Given the description of an element on the screen output the (x, y) to click on. 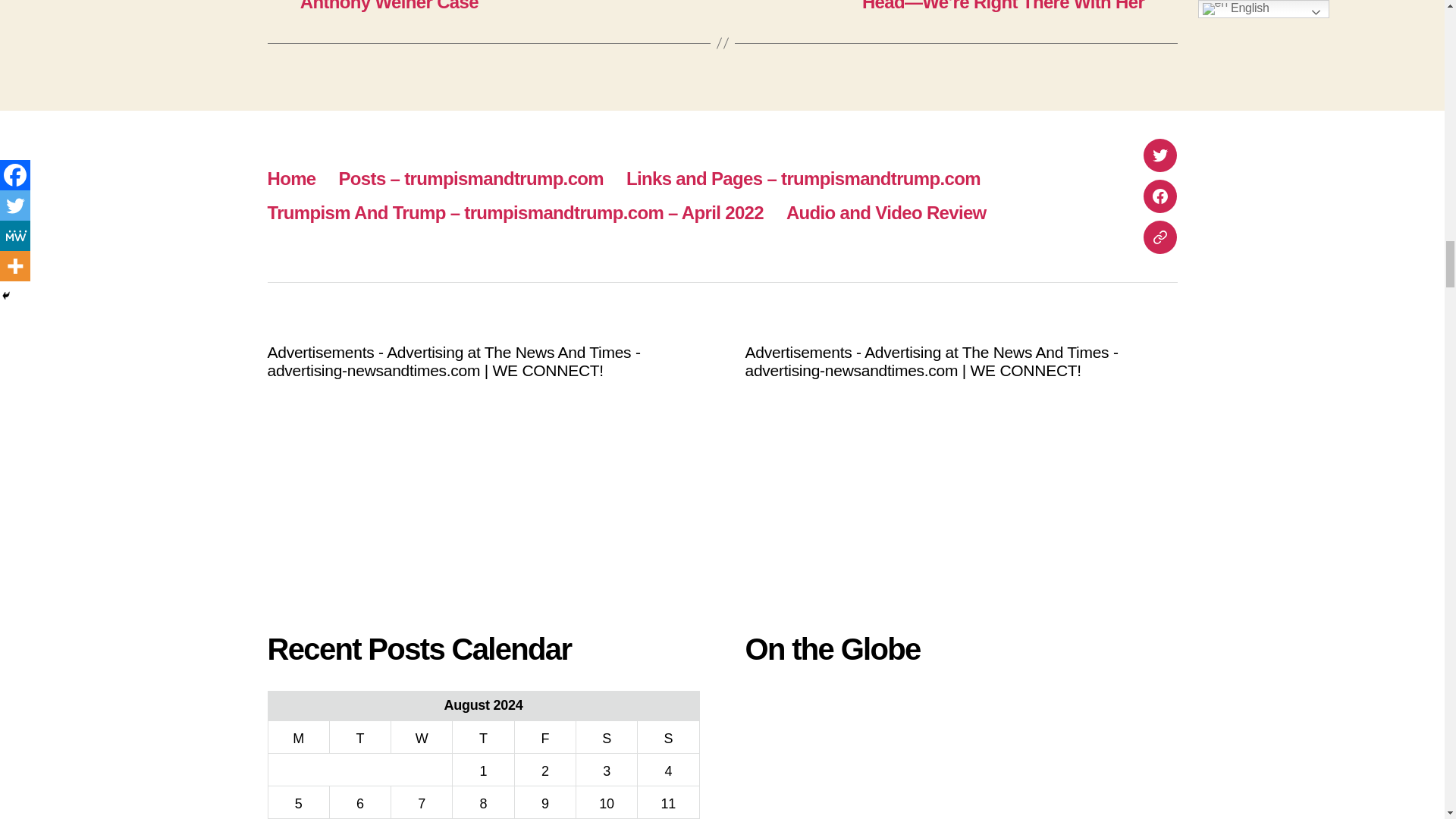
Tuesday (359, 736)
Wednesday (421, 736)
Thursday (482, 736)
Saturday (606, 736)
Monday (298, 736)
Friday (544, 736)
